Given the description of an element on the screen output the (x, y) to click on. 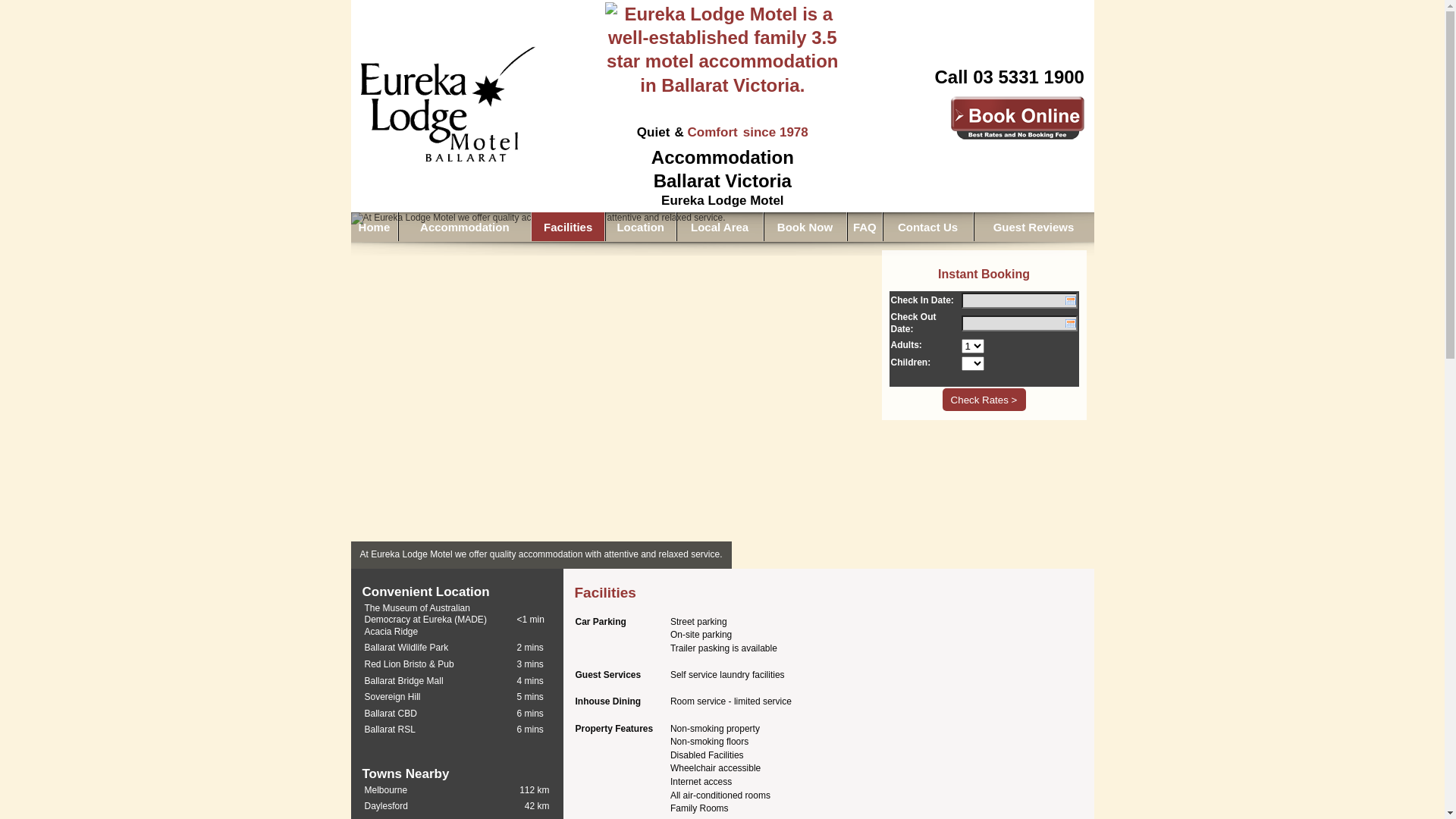
Facilities Element type: text (567, 226)
Local Area Element type: text (719, 226)
FAQ Element type: text (864, 226)
Location Element type: text (640, 226)
Contact Us Element type: text (927, 226)
Accommodation Element type: text (464, 226)
Book Accommodation at Eureka Lodge Motel Online Element type: hover (1017, 117)
Home Element type: text (373, 226)
Guest Reviews Element type: text (1033, 226)
Book Now Element type: text (804, 226)
Check Rates > Element type: text (983, 399)
